Given the description of an element on the screen output the (x, y) to click on. 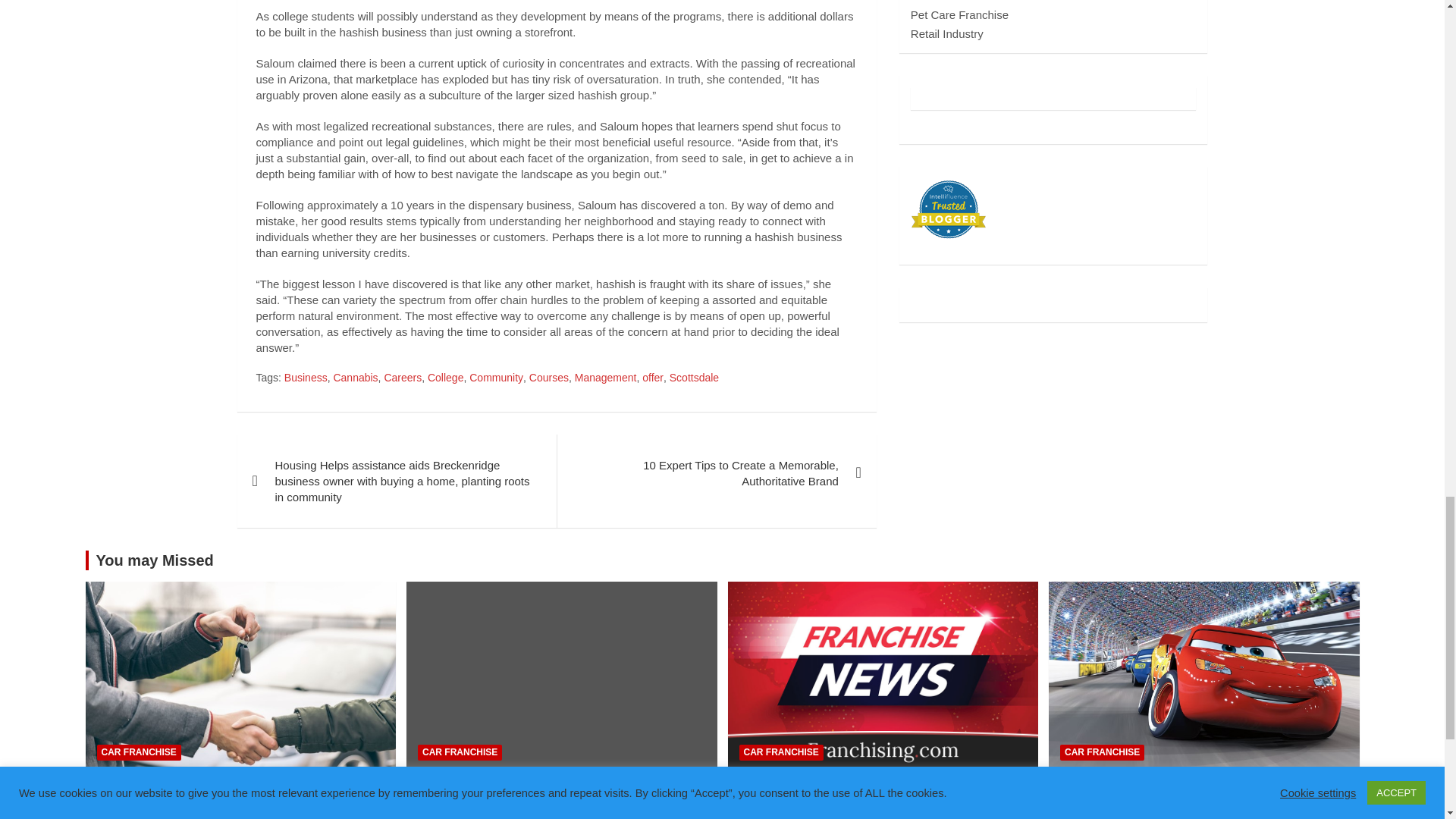
Careers (403, 378)
offer (652, 378)
Scottsdale (694, 378)
Courses (549, 378)
Cannabis (355, 378)
College (445, 378)
Management (606, 378)
Community (495, 378)
10 Expert Tips to Create a Memorable, Authoritative Brand (716, 472)
